Given the description of an element on the screen output the (x, y) to click on. 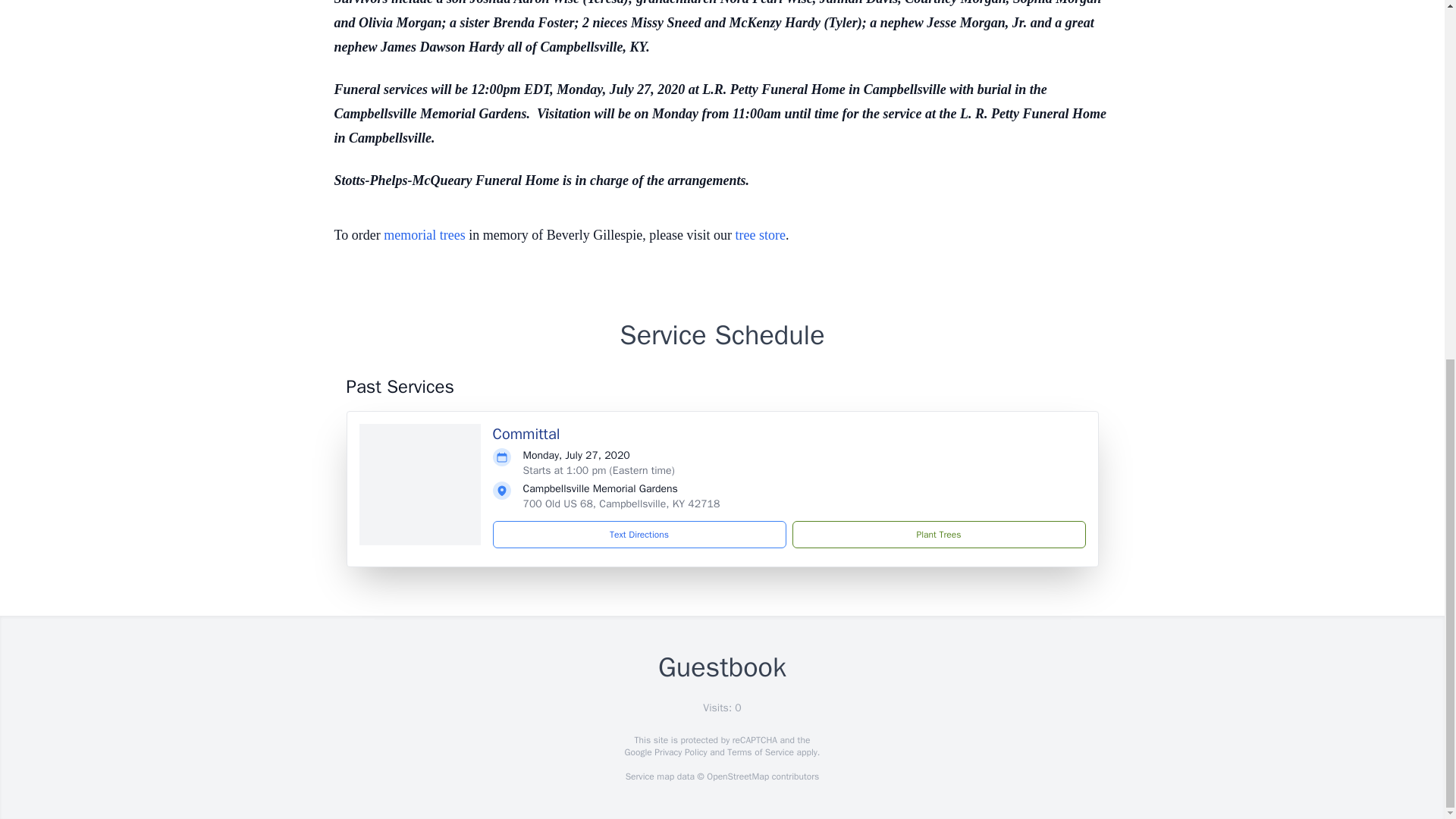
700 Old US 68, Campbellsville, KY 42718 (621, 503)
Plant Trees (938, 533)
Text Directions (639, 533)
memorial trees (424, 234)
tree store (760, 234)
OpenStreetMap (737, 776)
Terms of Service (759, 752)
Privacy Policy (679, 752)
